Given the description of an element on the screen output the (x, y) to click on. 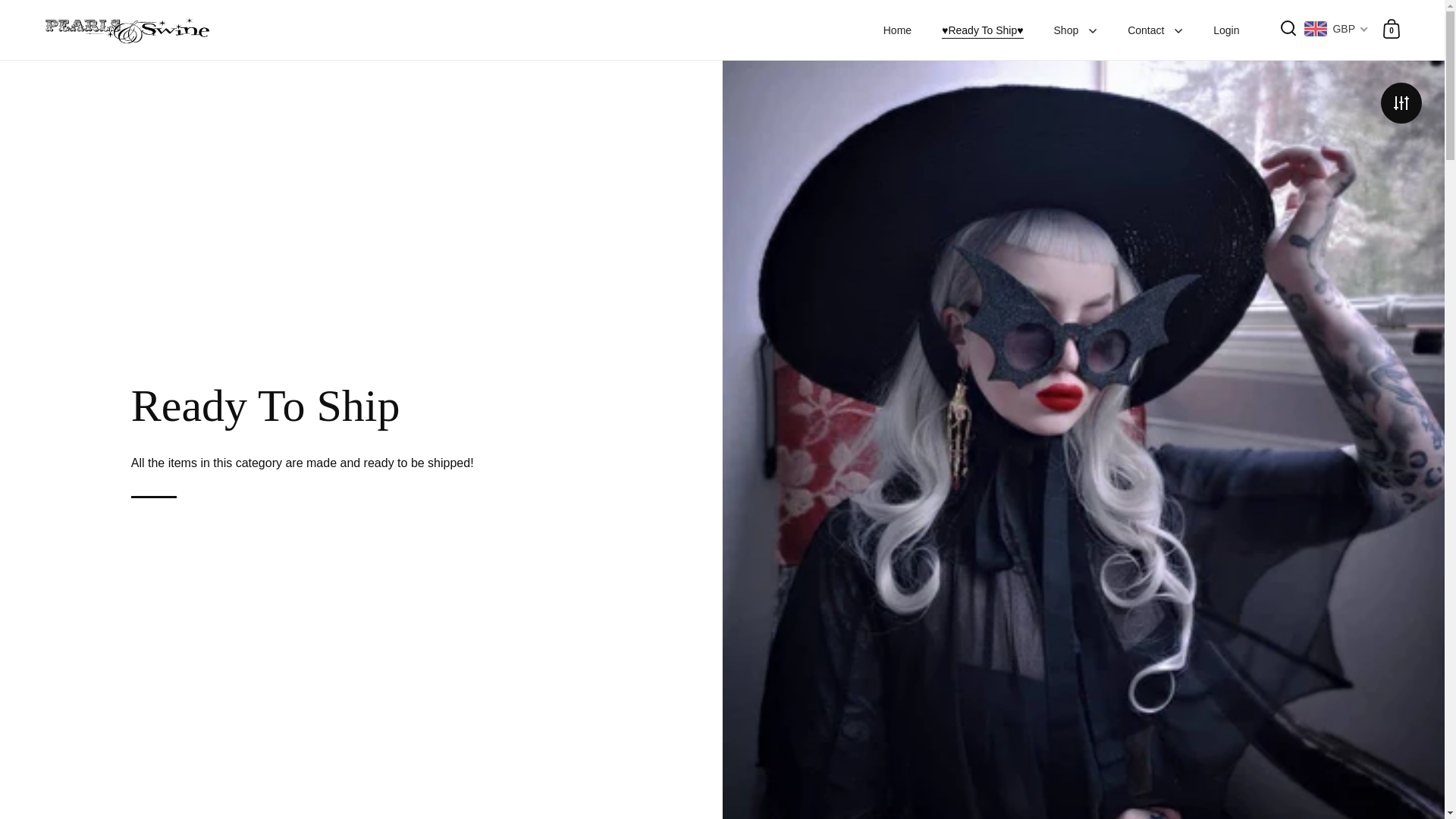
Shop (1076, 29)
Contact (1155, 29)
Home (896, 29)
Open search (1289, 28)
Open cart (1390, 28)
Login (1225, 29)
